Given the description of an element on the screen output the (x, y) to click on. 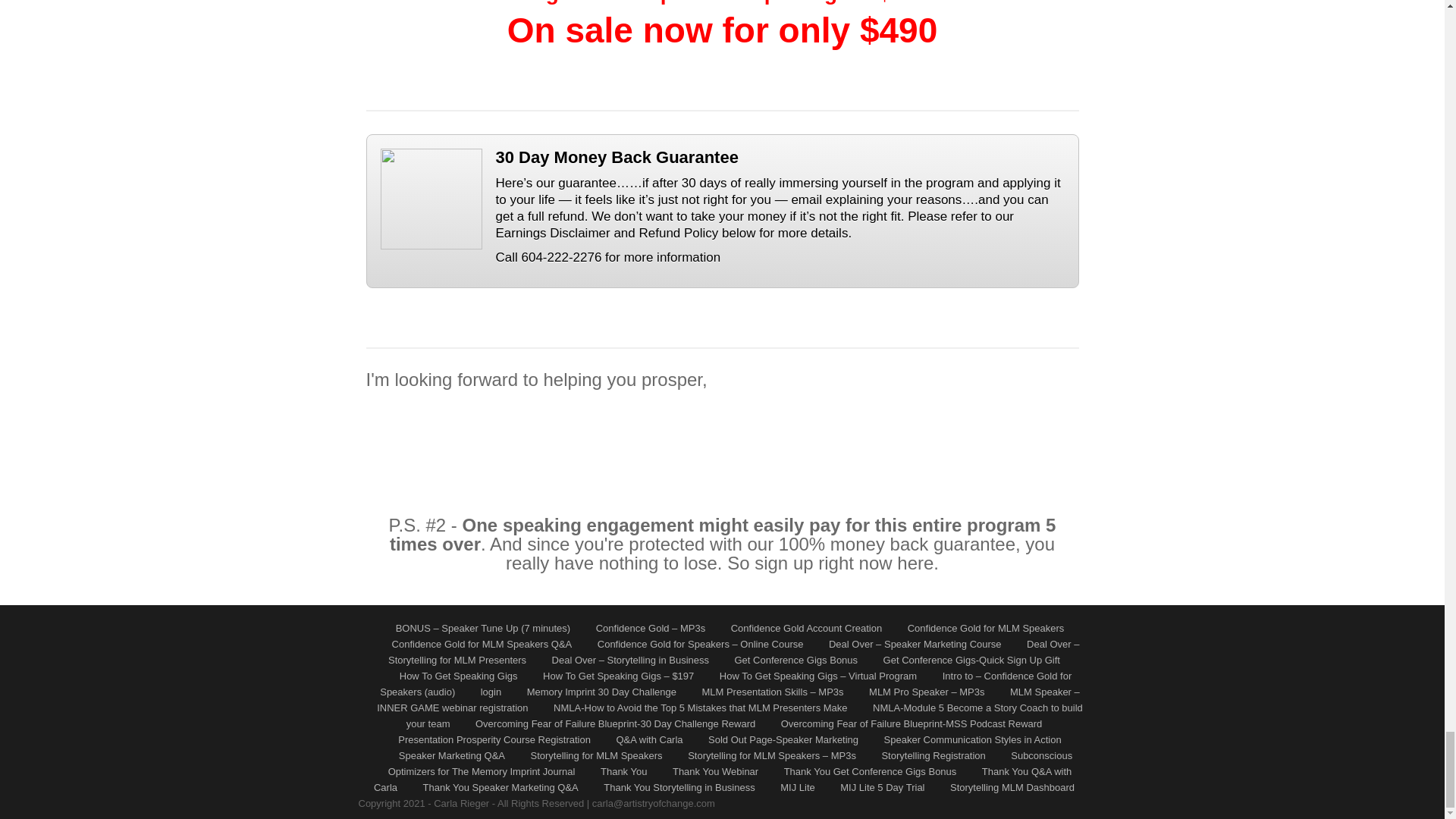
Get Conference Gigs Bonus (795, 659)
Get Conference Gigs-Quick Sign Up Gift (971, 659)
Confidence Gold for MLM Speakers (985, 627)
Memory Imprint 30 Day Challenge (602, 691)
How To Get Speaking Gigs (458, 675)
Confidence Gold Account Creation (806, 627)
login (490, 691)
NMLA-Module 5 Become a Story Coach to build your team (744, 715)
